Given the description of an element on the screen output the (x, y) to click on. 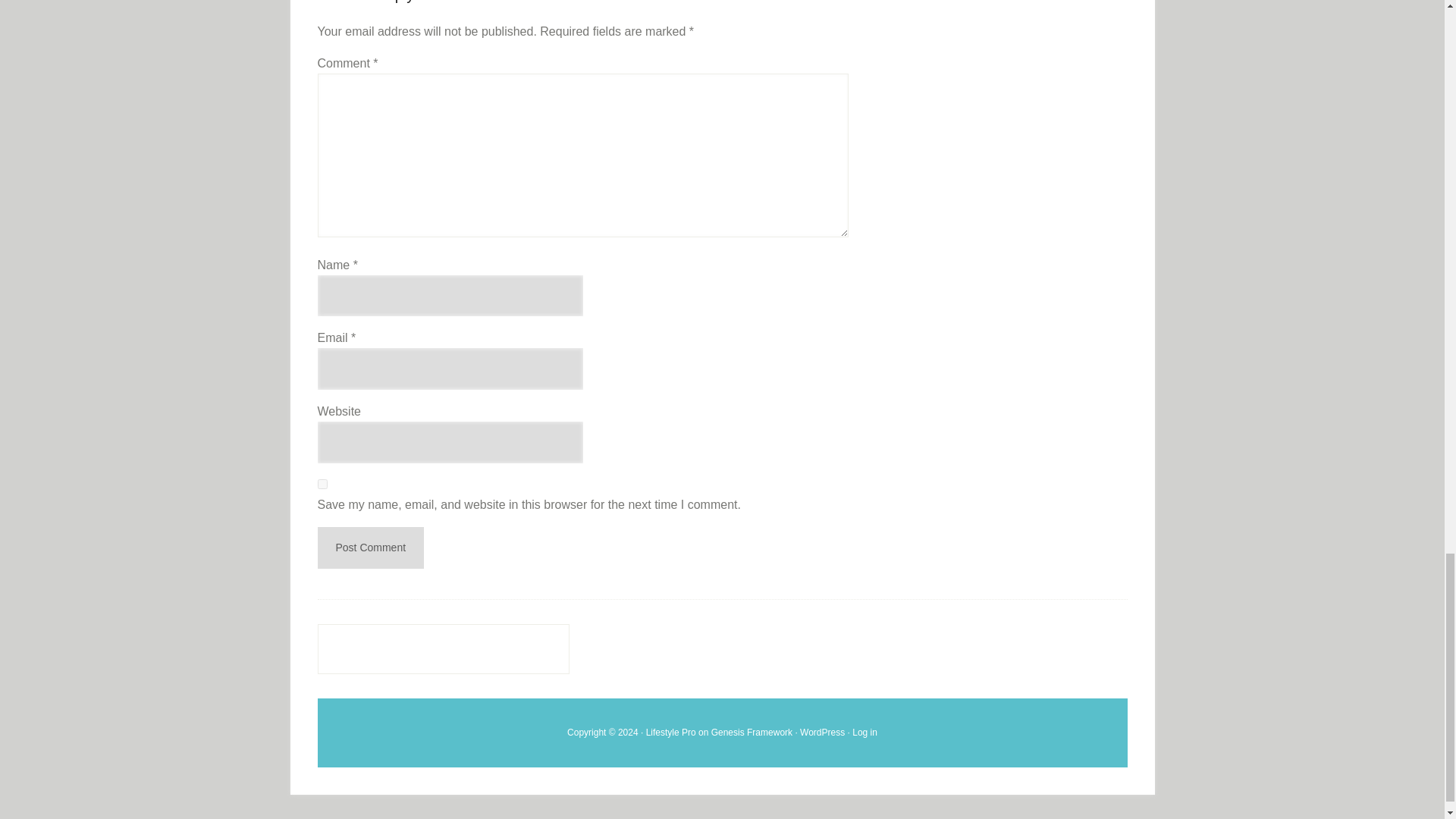
yes (321, 483)
Post Comment (370, 547)
Post Comment (370, 547)
